Given the description of an element on the screen output the (x, y) to click on. 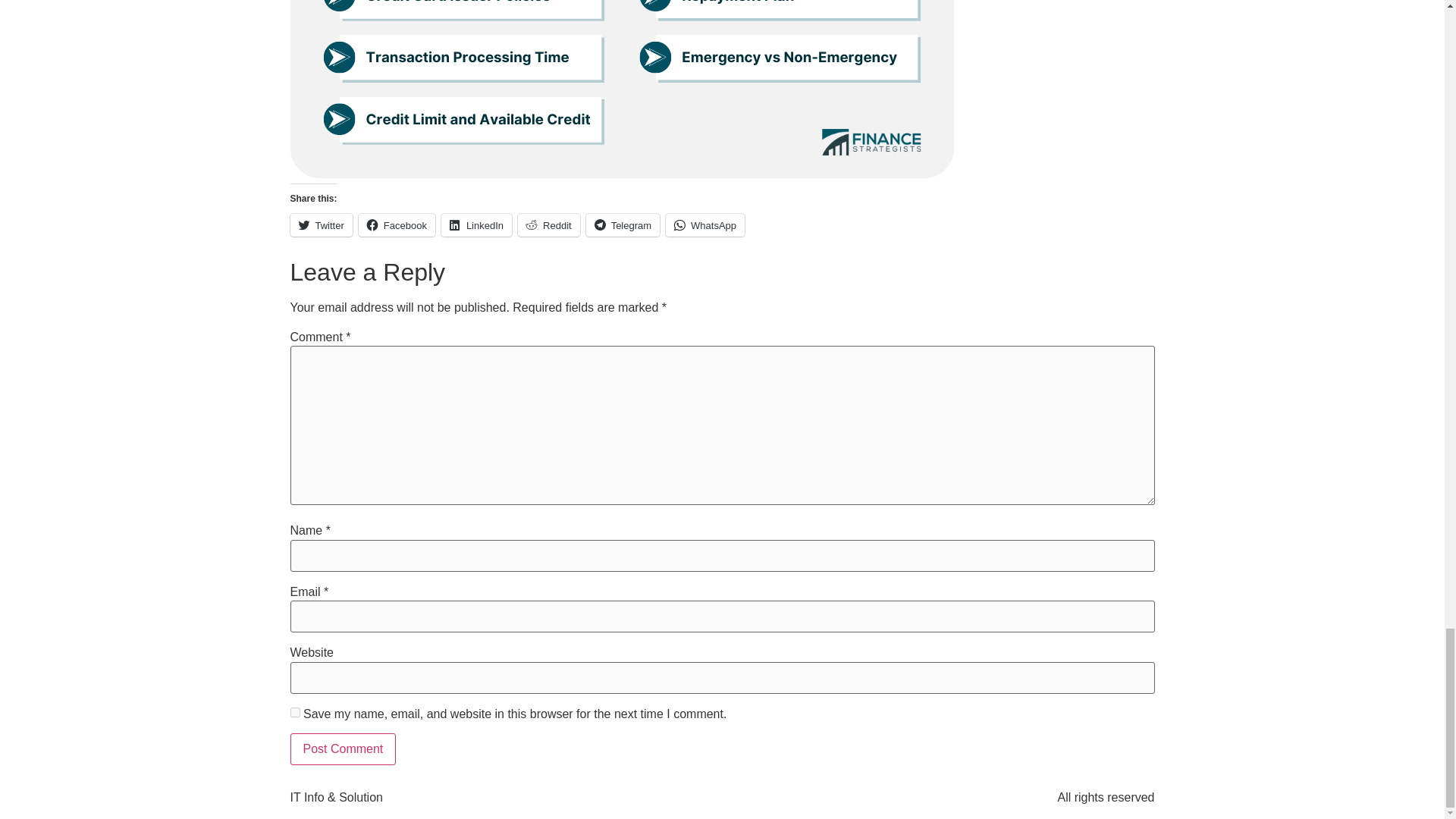
Click to share on Twitter (320, 224)
Facebook (396, 224)
Click to share on LinkedIn (476, 224)
Reddit (548, 224)
Click to share on WhatsApp (704, 224)
Click to share on Facebook (396, 224)
LinkedIn (476, 224)
Post Comment (342, 748)
Click to share on Reddit (548, 224)
Click to share on Telegram (622, 224)
Twitter (320, 224)
yes (294, 712)
WhatsApp (704, 224)
Post Comment (342, 748)
Telegram (622, 224)
